Given the description of an element on the screen output the (x, y) to click on. 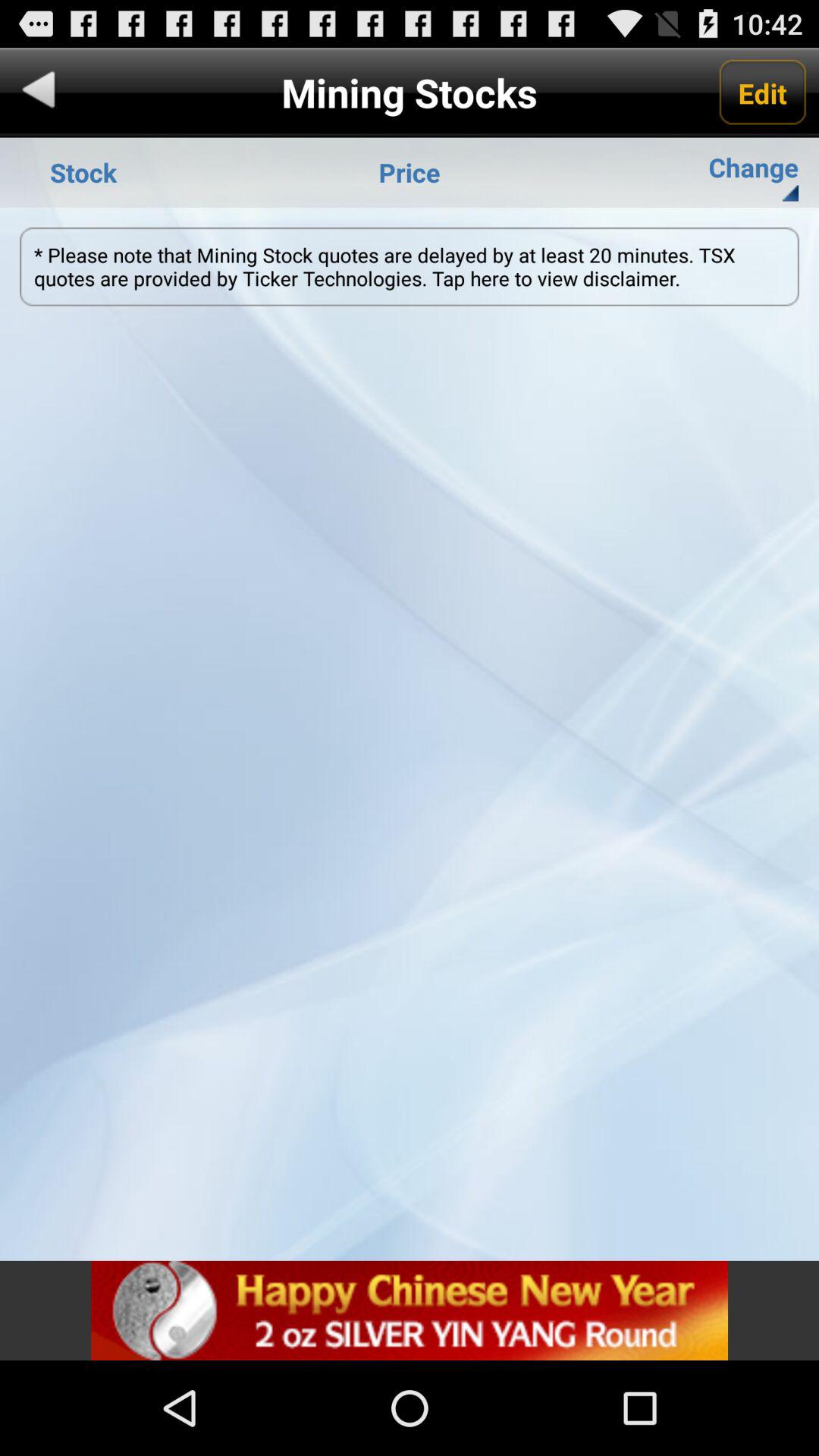
go to previous (39, 92)
